Given the description of an element on the screen output the (x, y) to click on. 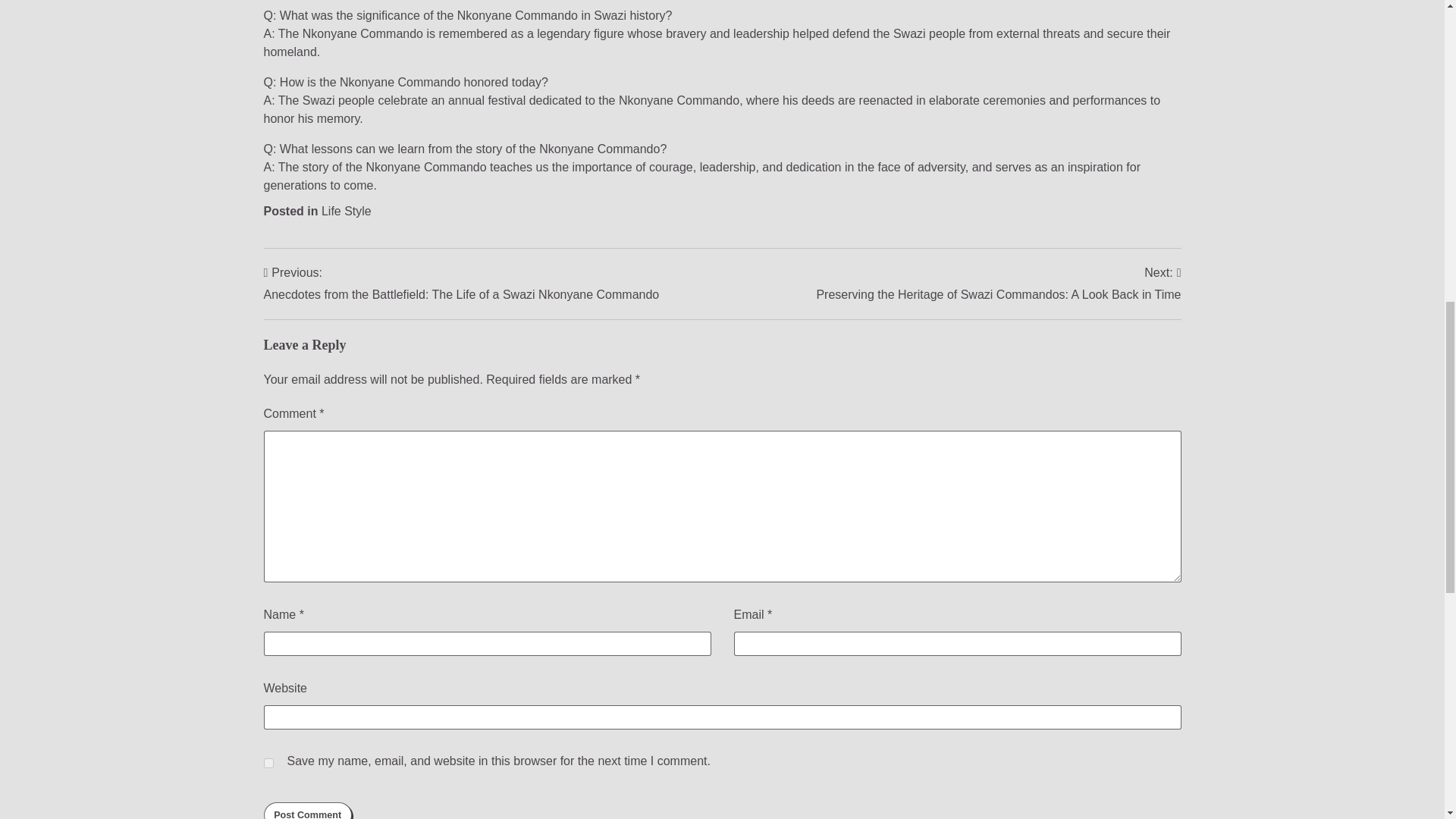
Life Style (346, 210)
Post Comment (307, 810)
yes (268, 763)
Post Comment (307, 810)
